Given the description of an element on the screen output the (x, y) to click on. 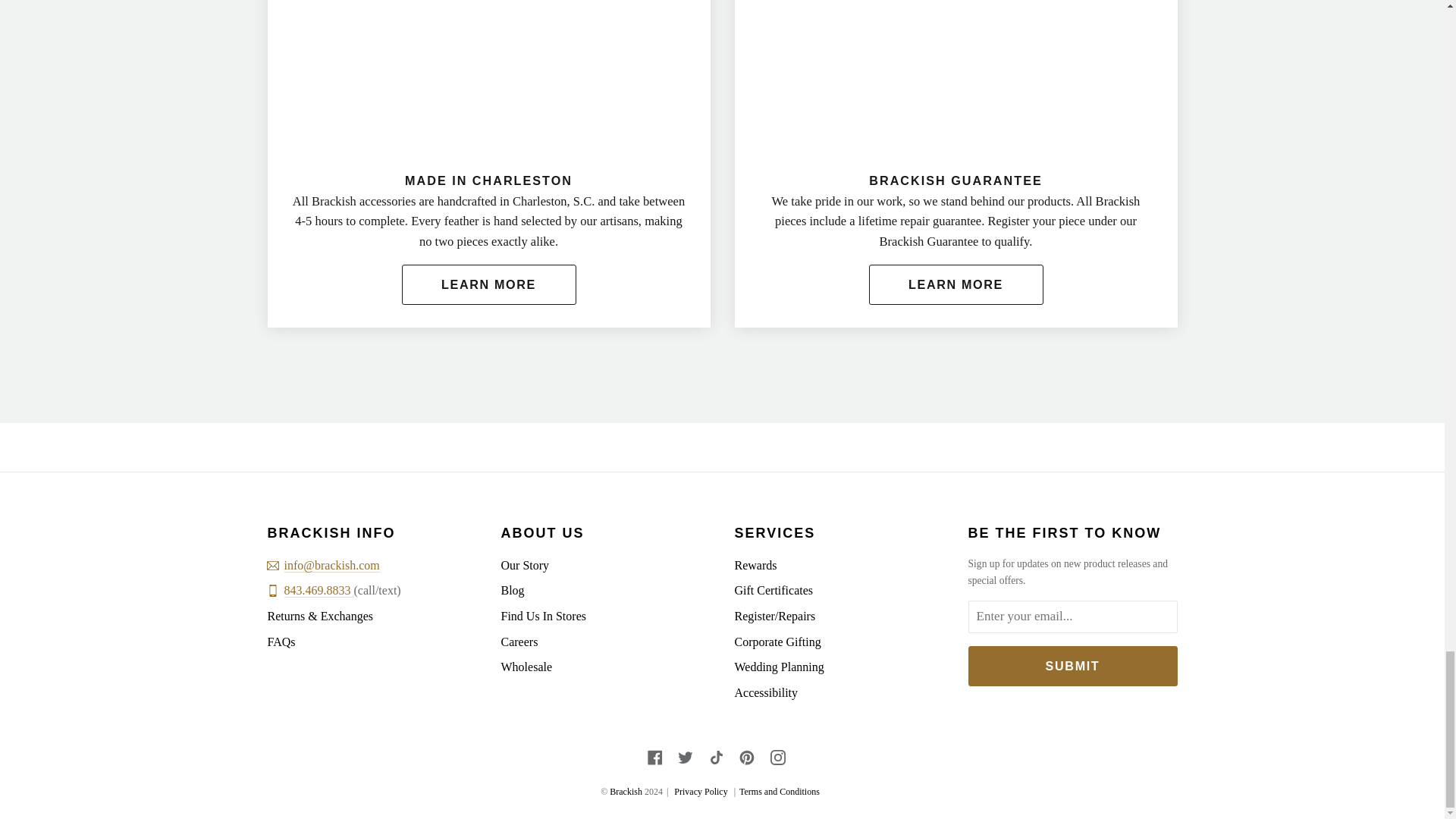
Instagram (778, 756)
Facebook (654, 756)
Tiktok (715, 756)
Twitter (685, 756)
Pinterest (746, 756)
